Given the description of an element on the screen output the (x, y) to click on. 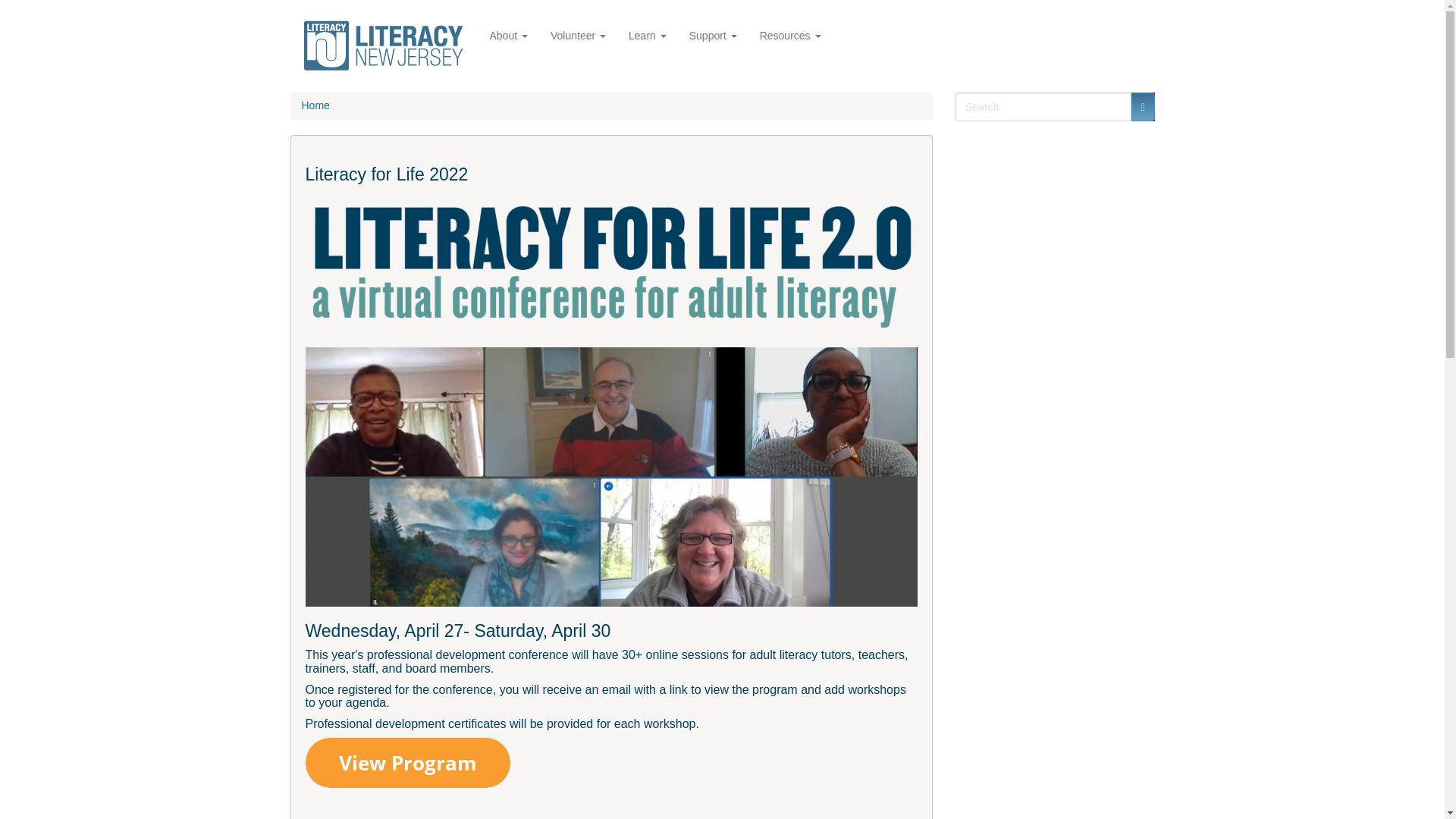
Resources (790, 34)
About (507, 34)
Support (713, 34)
Volunteer (577, 34)
Enter the terms you wish to search for. (1043, 106)
Home (315, 105)
Home (387, 45)
Learn (647, 34)
